Given the description of an element on the screen output the (x, y) to click on. 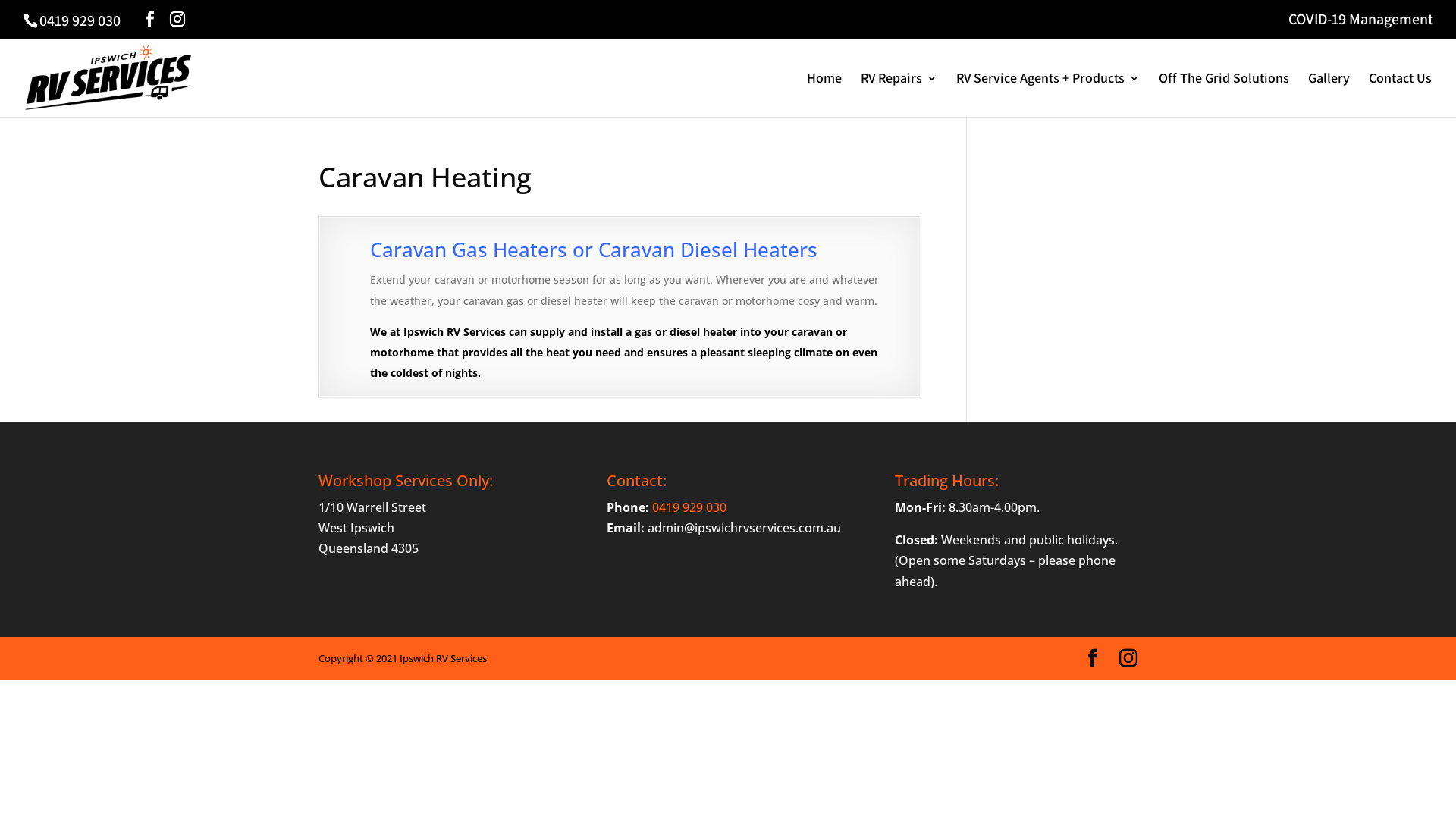
Contact Us Element type: text (1399, 94)
admin@ipswichrvservices.com.au Element type: text (743, 527)
Home Element type: text (823, 94)
0419 929 030 Element type: text (689, 506)
COVID-19 Management Element type: text (1360, 24)
RV Repairs Element type: text (898, 94)
0419 929 030 Element type: text (79, 20)
Off The Grid Solutions Element type: text (1223, 94)
Gallery Element type: text (1328, 94)
RV Service Agents + Products Element type: text (1047, 94)
